Given the description of an element on the screen output the (x, y) to click on. 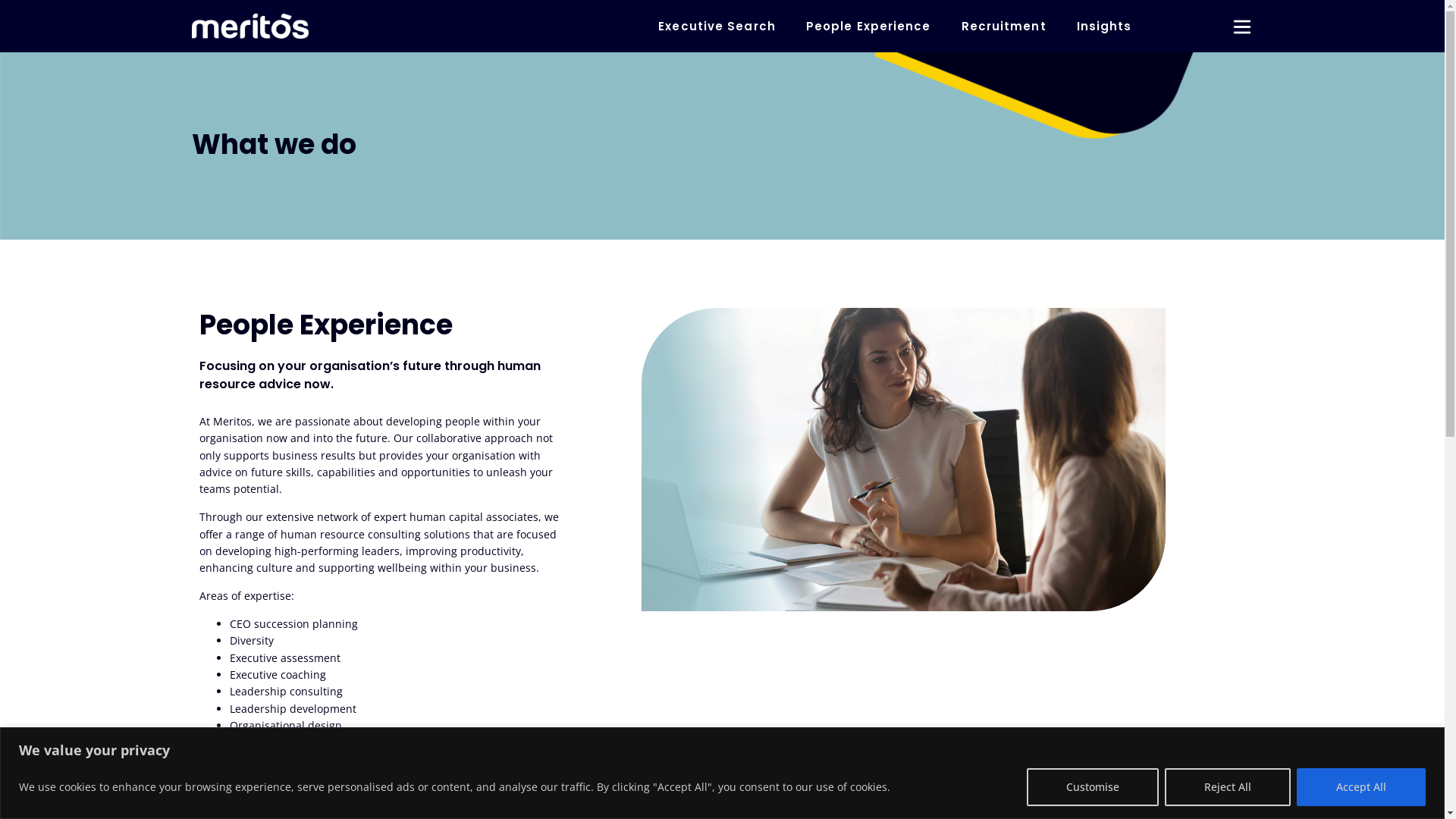
Executive Search Element type: text (716, 25)
Recruitment Element type: text (1003, 25)
Insights Element type: text (1104, 25)
Accept All Element type: text (1360, 786)
People Experience Element type: text (868, 25)
Reject All Element type: text (1227, 786)
Customise Element type: text (1092, 786)
